Given the description of an element on the screen output the (x, y) to click on. 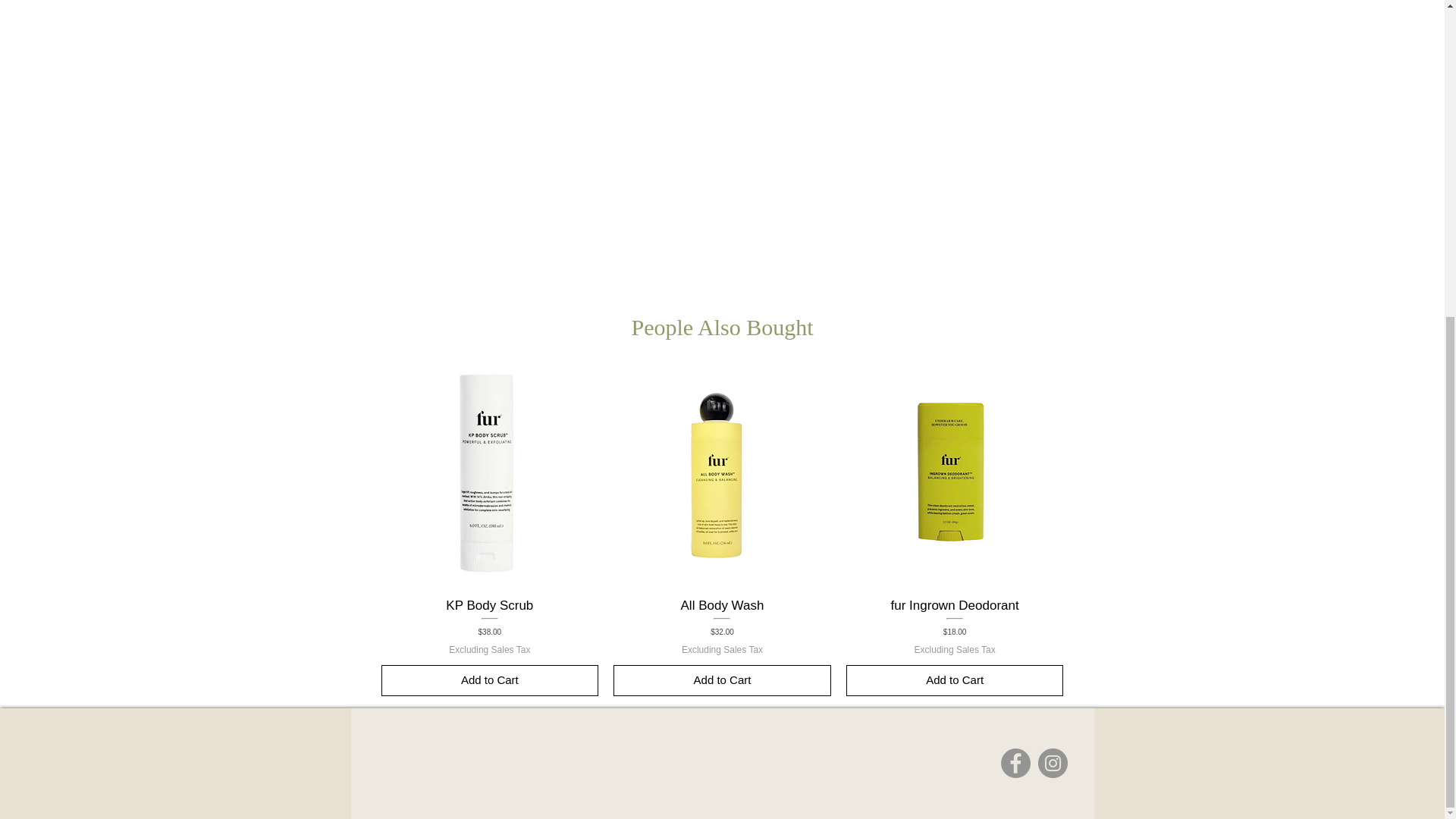
Add to Cart (721, 680)
Add to Cart (954, 680)
Add to Cart (489, 680)
